Given the description of an element on the screen output the (x, y) to click on. 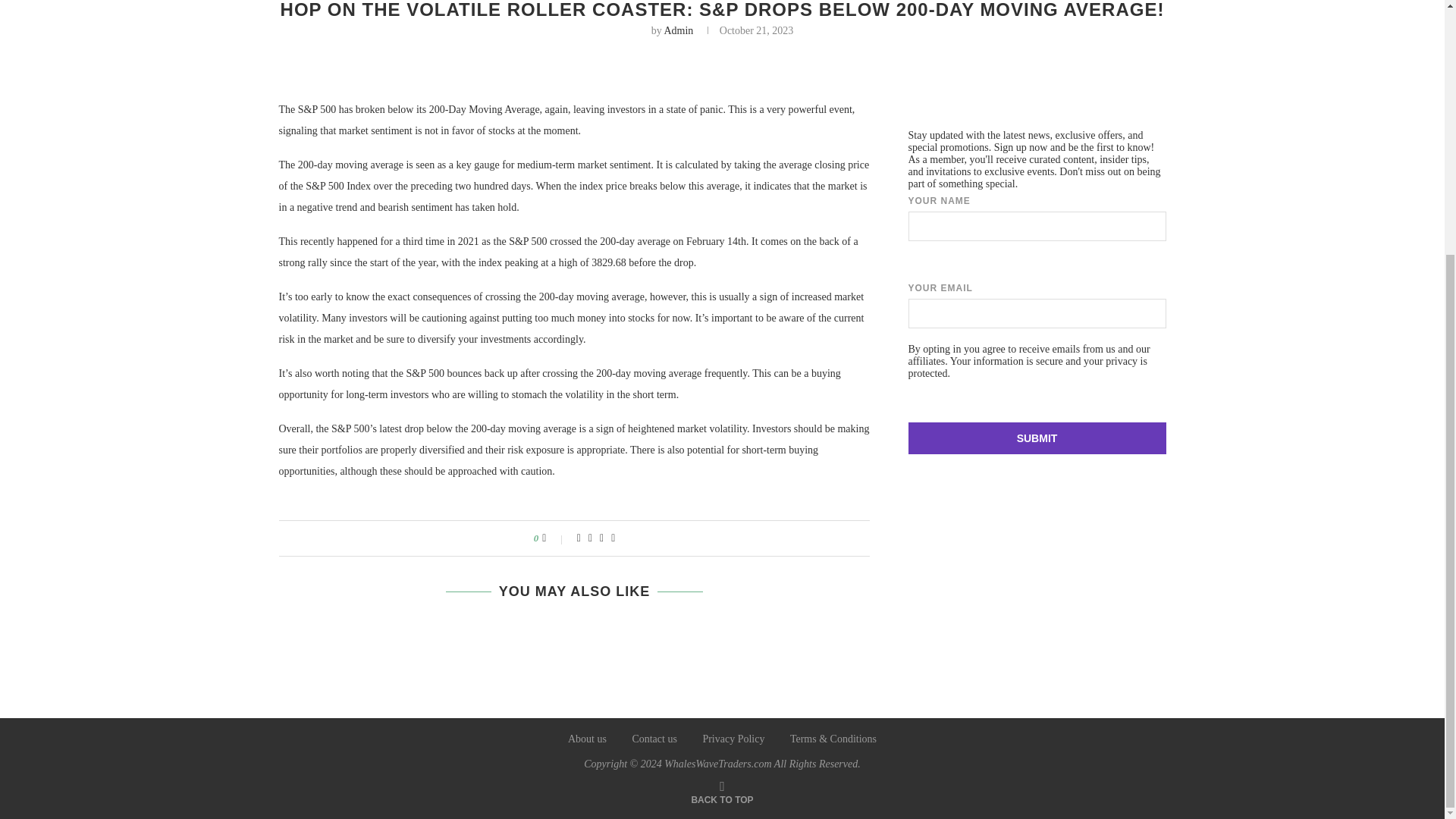
Like (553, 538)
Admin (678, 30)
Submit (1037, 438)
